Given the description of an element on the screen output the (x, y) to click on. 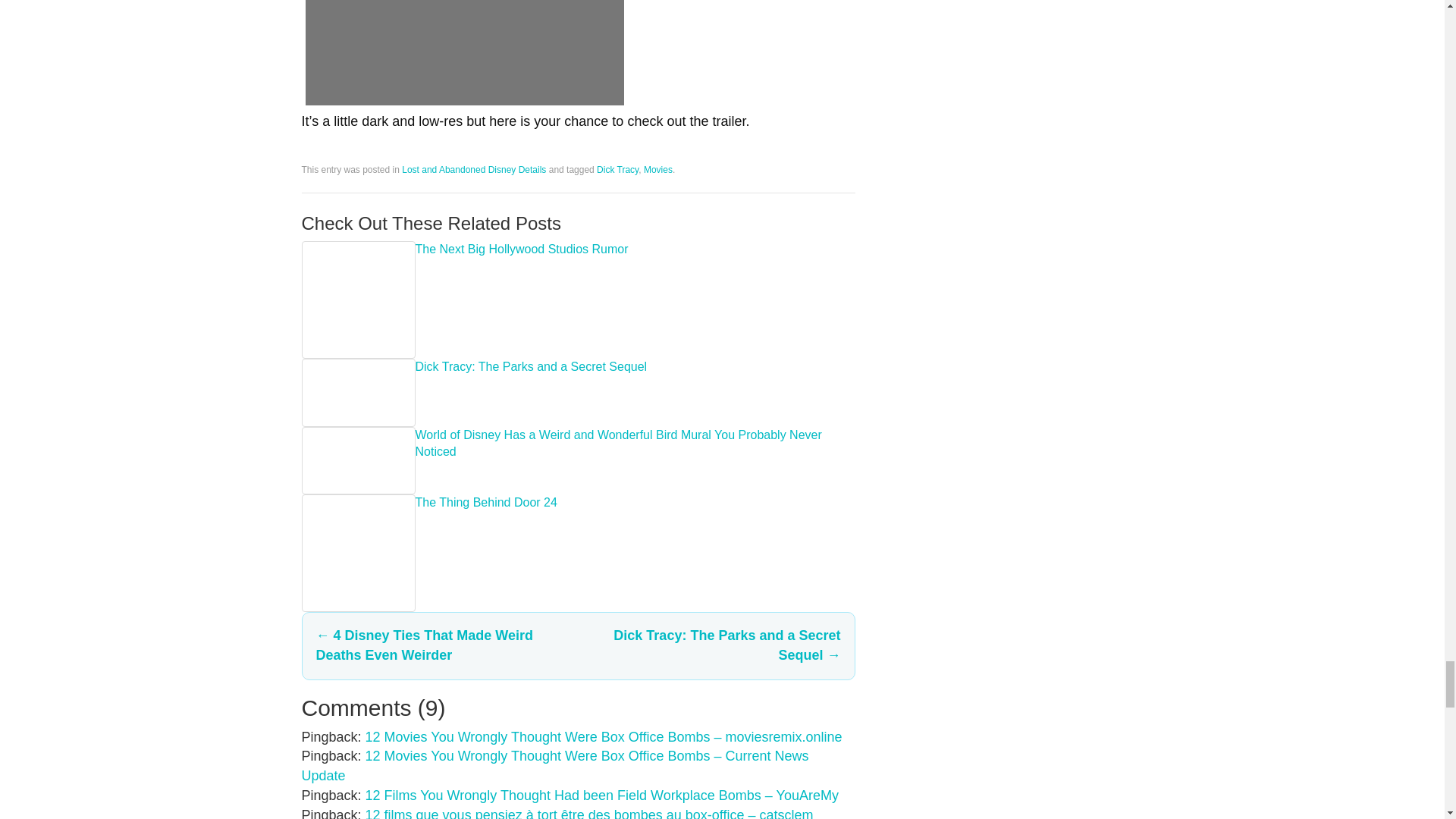
The Next Big Hollywood Studios Rumor (357, 299)
The Thing Behind Door 24 (357, 552)
Dick Tracy: The Parks and a Secret Sequel (357, 392)
